Given the description of an element on the screen output the (x, y) to click on. 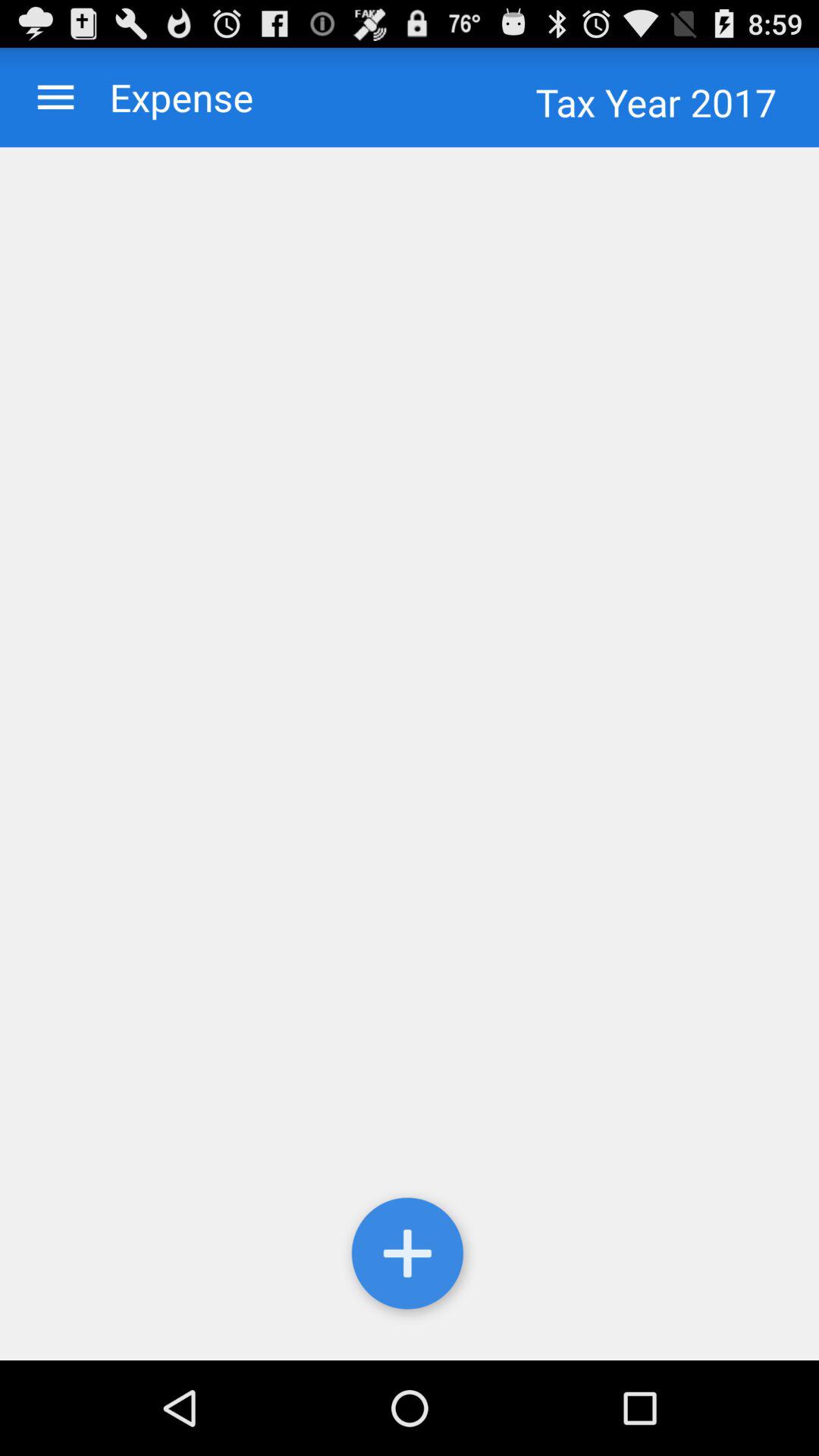
click on add button (409, 1256)
